Given the description of an element on the screen output the (x, y) to click on. 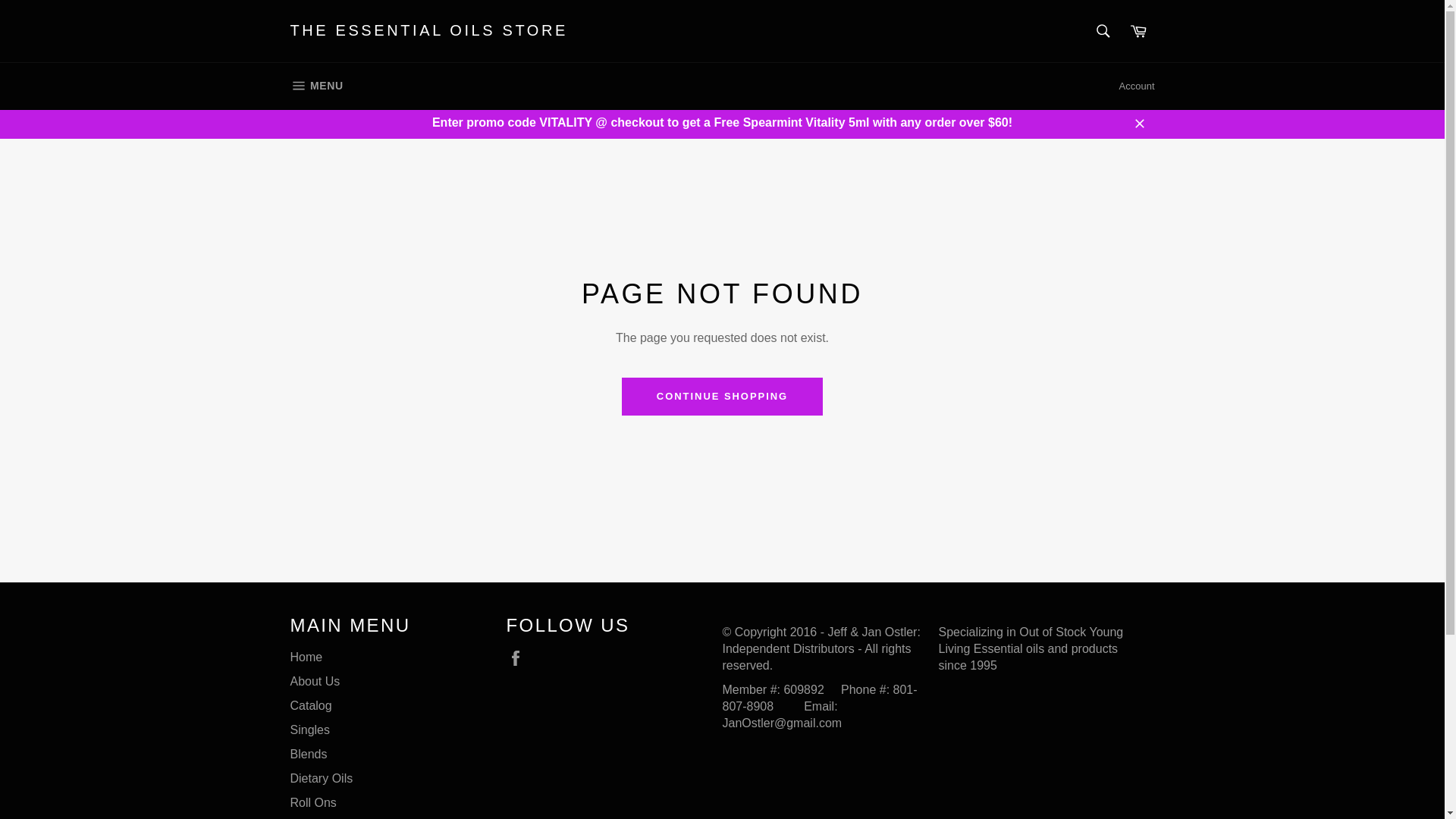
Account (1136, 86)
Search (1103, 30)
THE ESSENTIAL OILS STORE (428, 30)
Cart (1138, 30)
The Essential Oils Store on Facebook (519, 658)
